Given the description of an element on the screen output the (x, y) to click on. 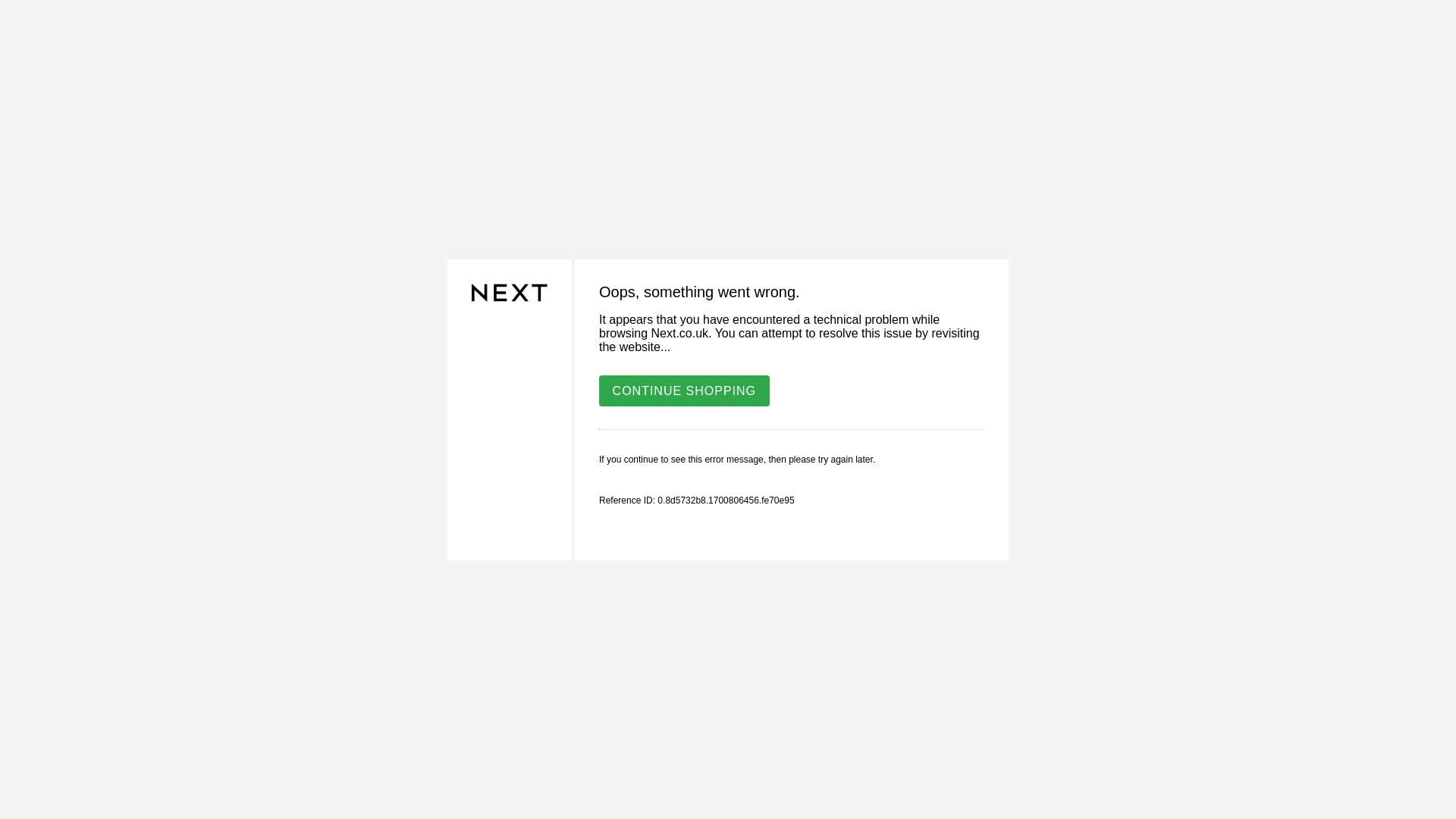
CONTINUE SHOPPING Element type: text (684, 389)
